Given the description of an element on the screen output the (x, y) to click on. 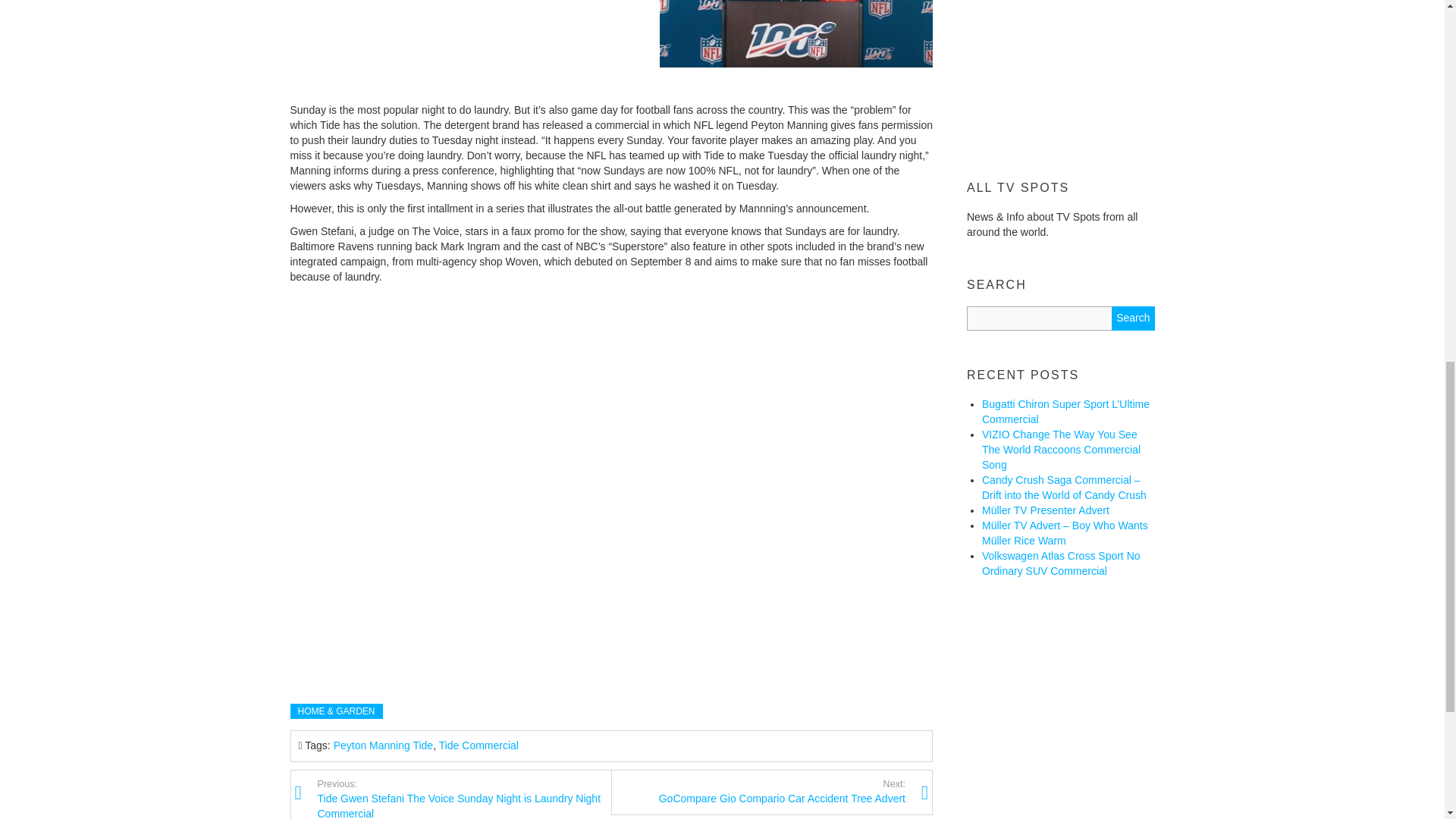
Search (1133, 318)
Search (1133, 318)
Volkswagen Atlas Cross Sport No Ordinary SUV Commercial (1060, 563)
Peyton Manning Tide (758, 791)
Tide Commercial (383, 745)
Advertisement (478, 745)
